Given the description of an element on the screen output the (x, y) to click on. 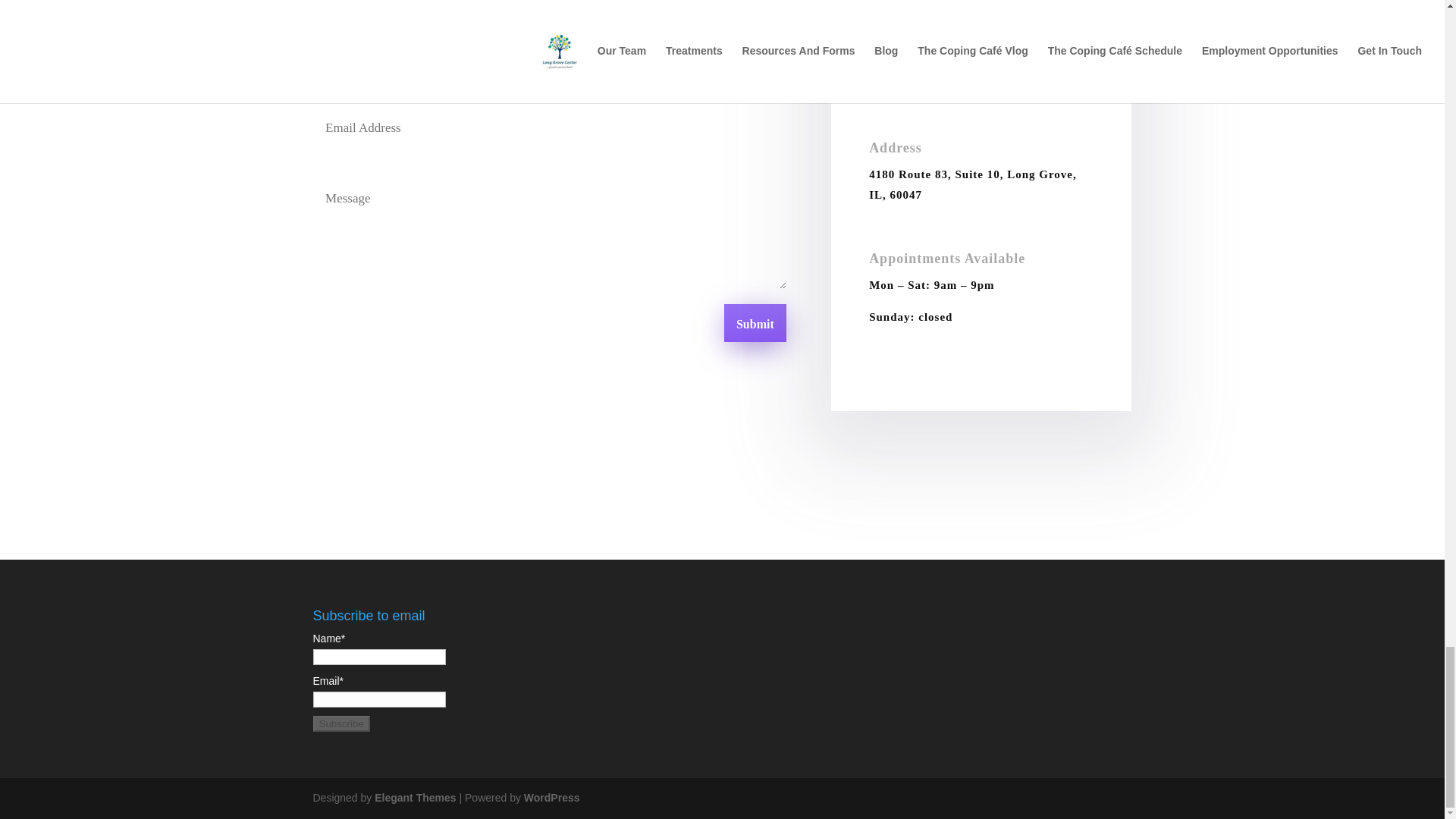
Submit (754, 322)
Premium WordPress Themes (414, 797)
Subscribe (341, 723)
Elegant Themes (414, 797)
Subscribe (341, 723)
WordPress (551, 797)
